Given the description of an element on the screen output the (x, y) to click on. 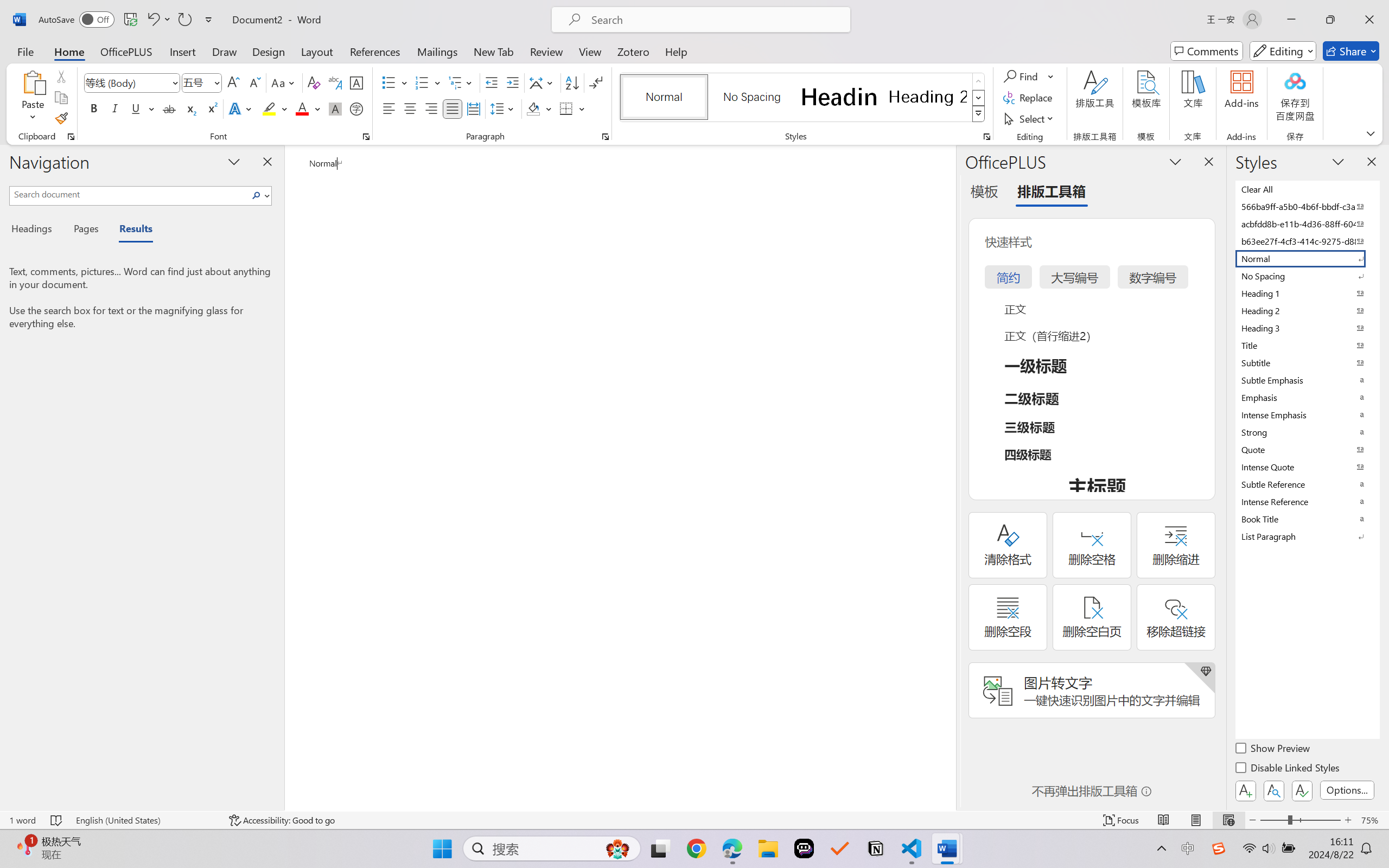
Styles... (986, 136)
Mode (1283, 50)
Text Effects and Typography (241, 108)
Class: NetUIButton (1301, 790)
Class: NetUIScrollBar (948, 477)
Heading 1 (839, 96)
Insert (182, 51)
Title (1306, 345)
Zoom In (1348, 819)
Line and Paragraph Spacing (503, 108)
